Given the description of an element on the screen output the (x, y) to click on. 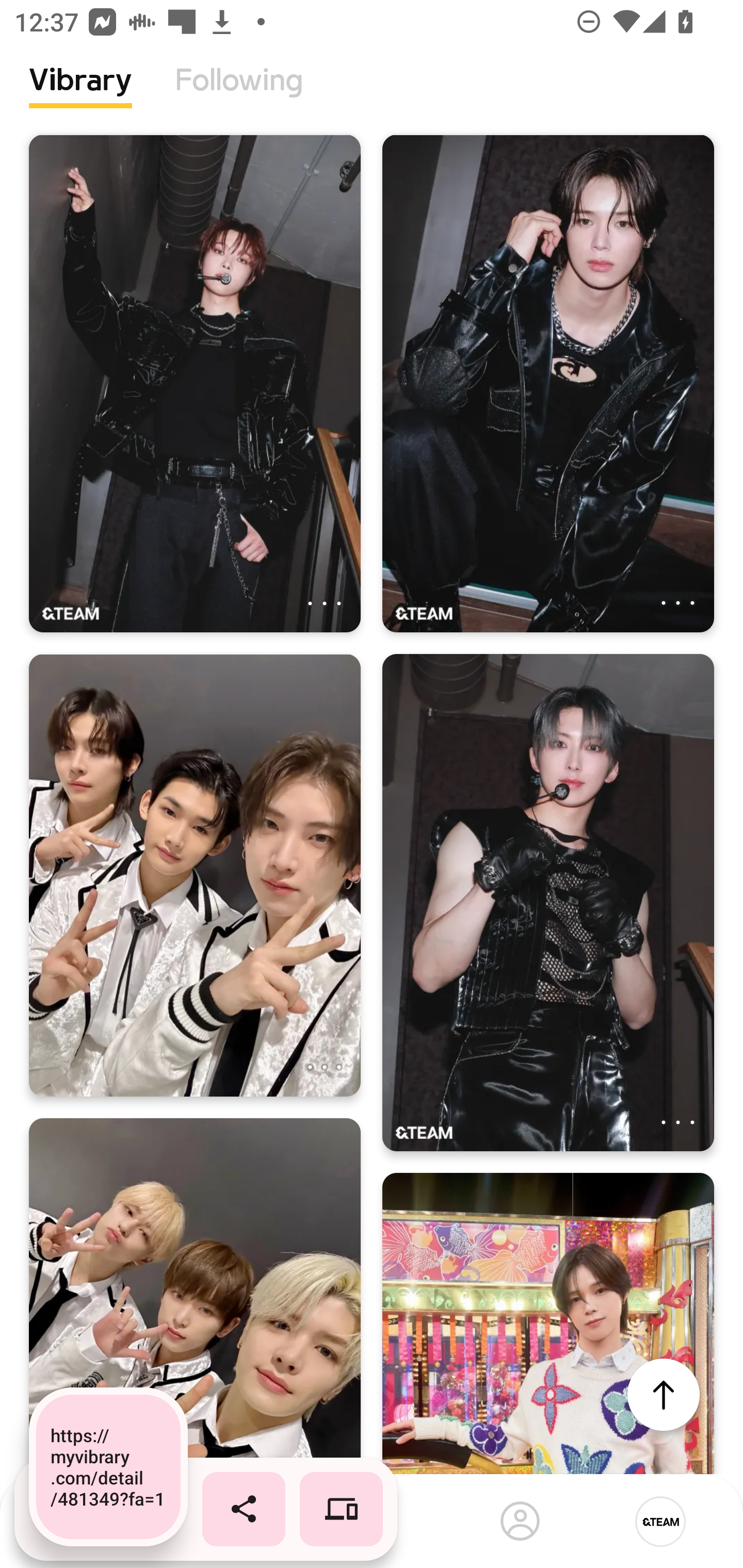
Vibrary (80, 95)
Following (239, 95)
